Given the description of an element on the screen output the (x, y) to click on. 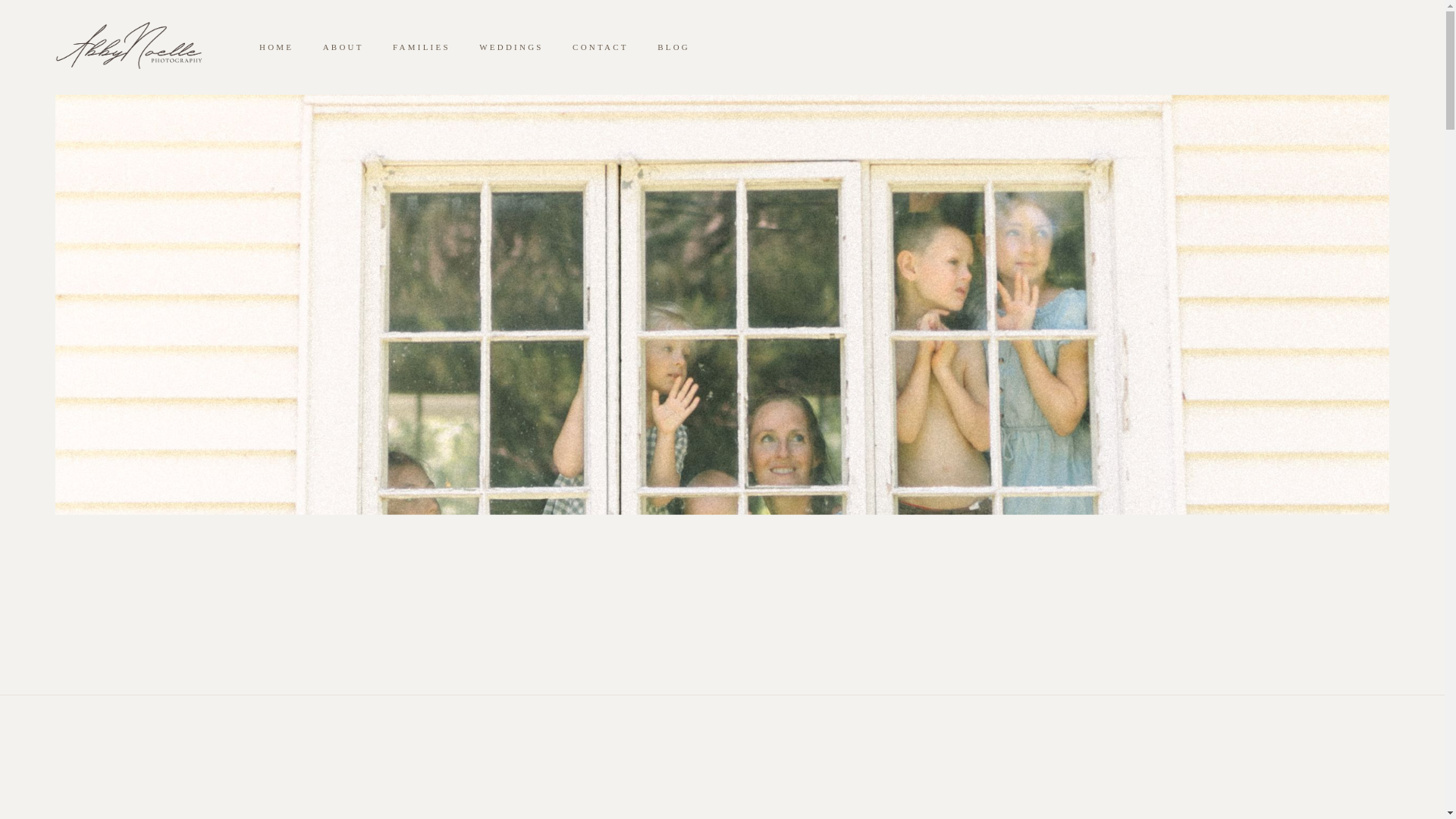
ABOUT (342, 47)
BLOG (673, 47)
HOME (276, 47)
CONTACT (600, 47)
WEDDINGS (510, 47)
FAMILIES (421, 47)
